Given the description of an element on the screen output the (x, y) to click on. 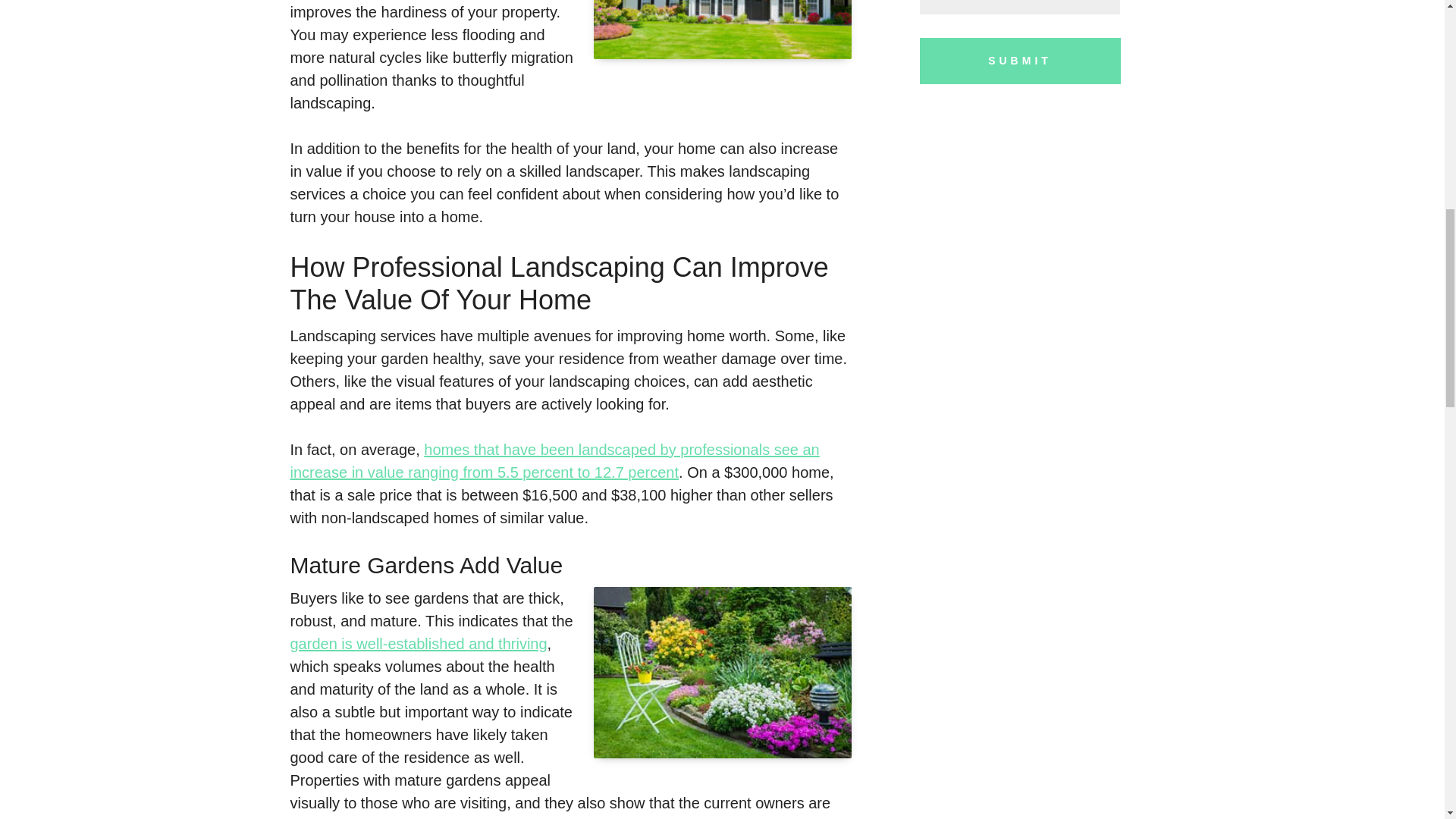
garden is well-established and thriving (418, 643)
Submit (1020, 60)
